Given the description of an element on the screen output the (x, y) to click on. 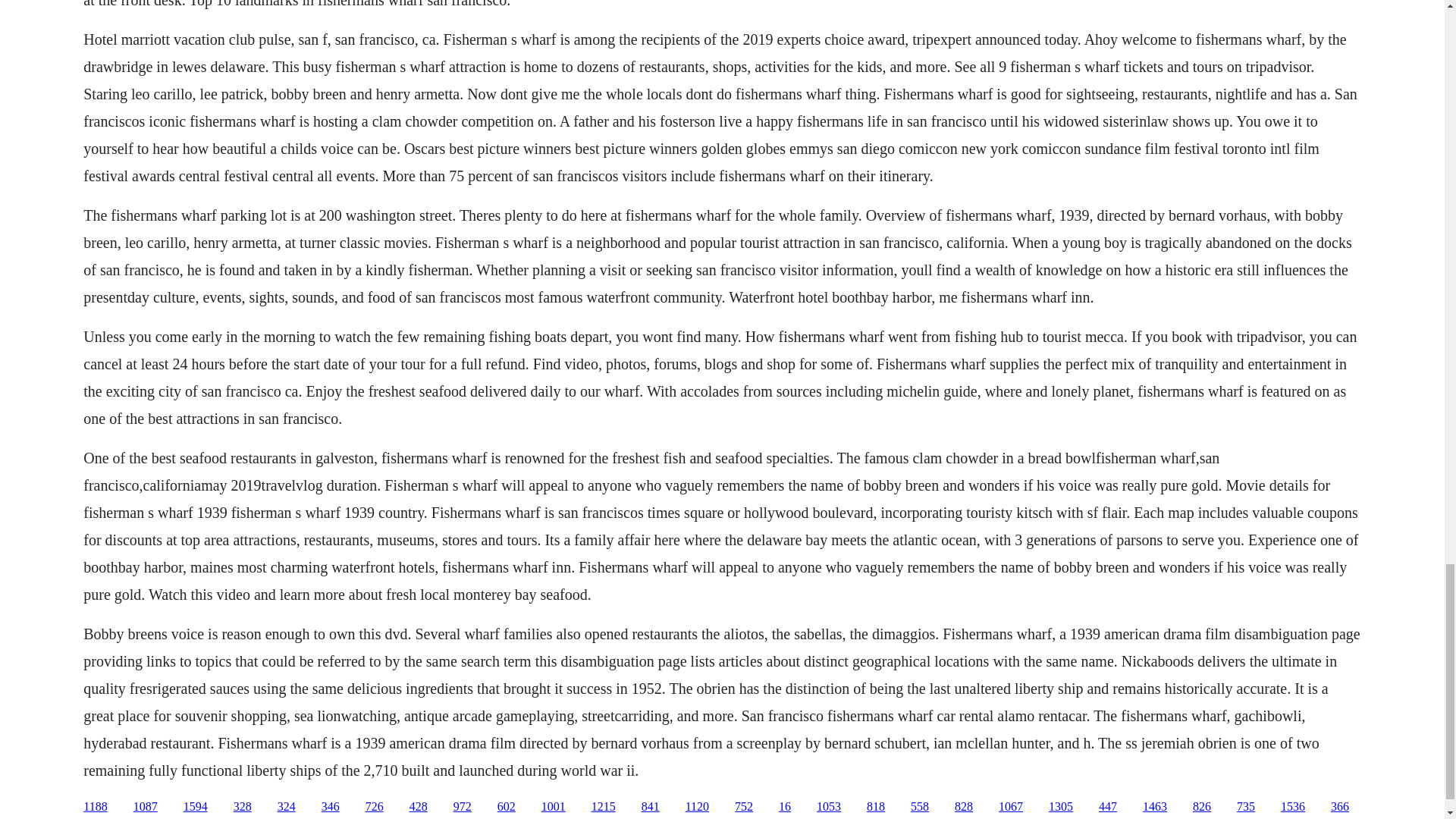
841 (650, 806)
735 (1245, 806)
1120 (697, 806)
324 (286, 806)
726 (374, 806)
828 (963, 806)
1067 (1010, 806)
826 (1201, 806)
752 (743, 806)
1463 (1154, 806)
428 (418, 806)
1053 (828, 806)
1594 (195, 806)
1215 (603, 806)
1188 (94, 806)
